Given the description of an element on the screen output the (x, y) to click on. 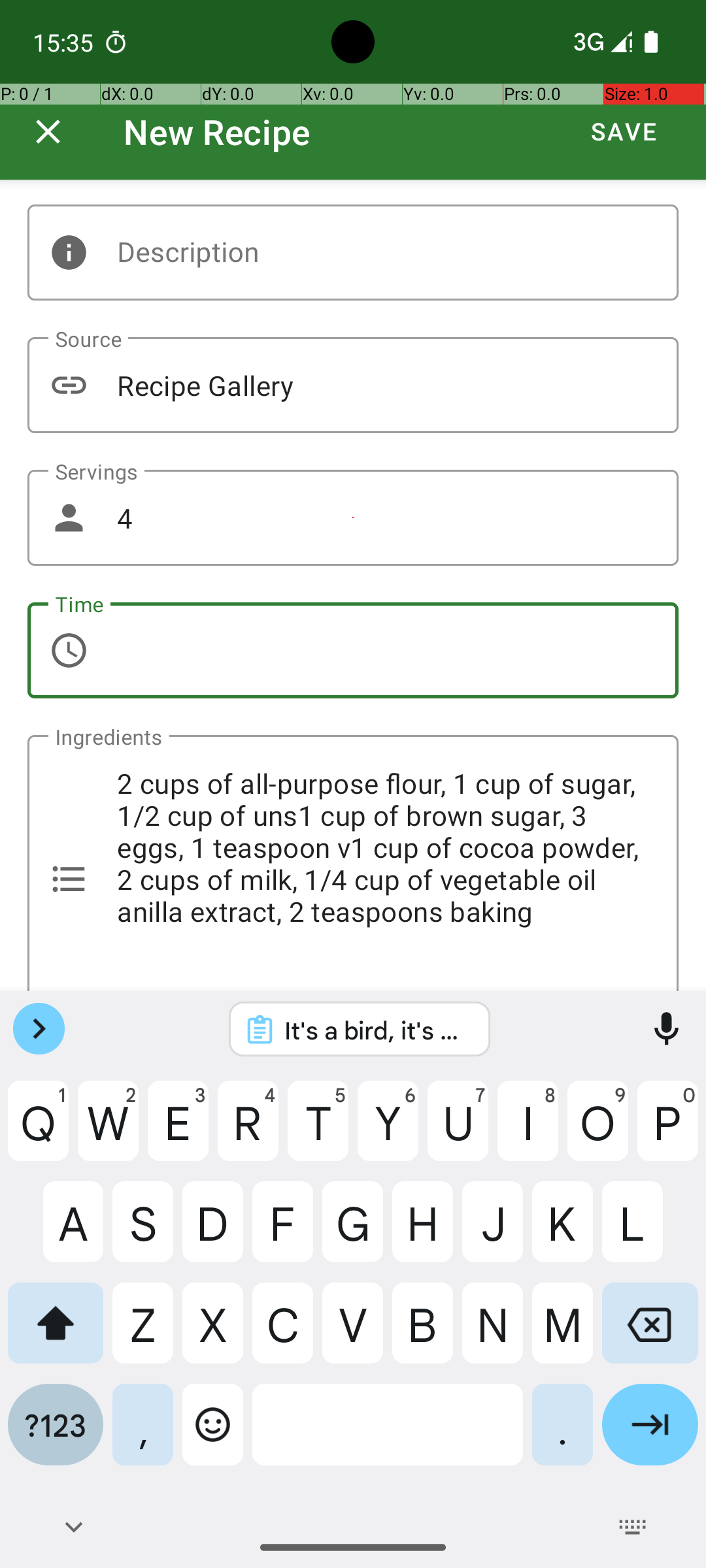
Recipe Gallery Element type: android.widget.EditText (352, 385)
2 cups of all-purpose flour, 1 cup of sugar, 1/2 cup of uns1 cup of brown sugar, 3 eggs, 1 teaspoon v1 cup of cocoa powder, 2 cups of milk, 1/4 cup of vegetable oil
anilla extract, 2 teaspoons baking

 Element type: android.widget.EditText (352, 863)
